Given the description of an element on the screen output the (x, y) to click on. 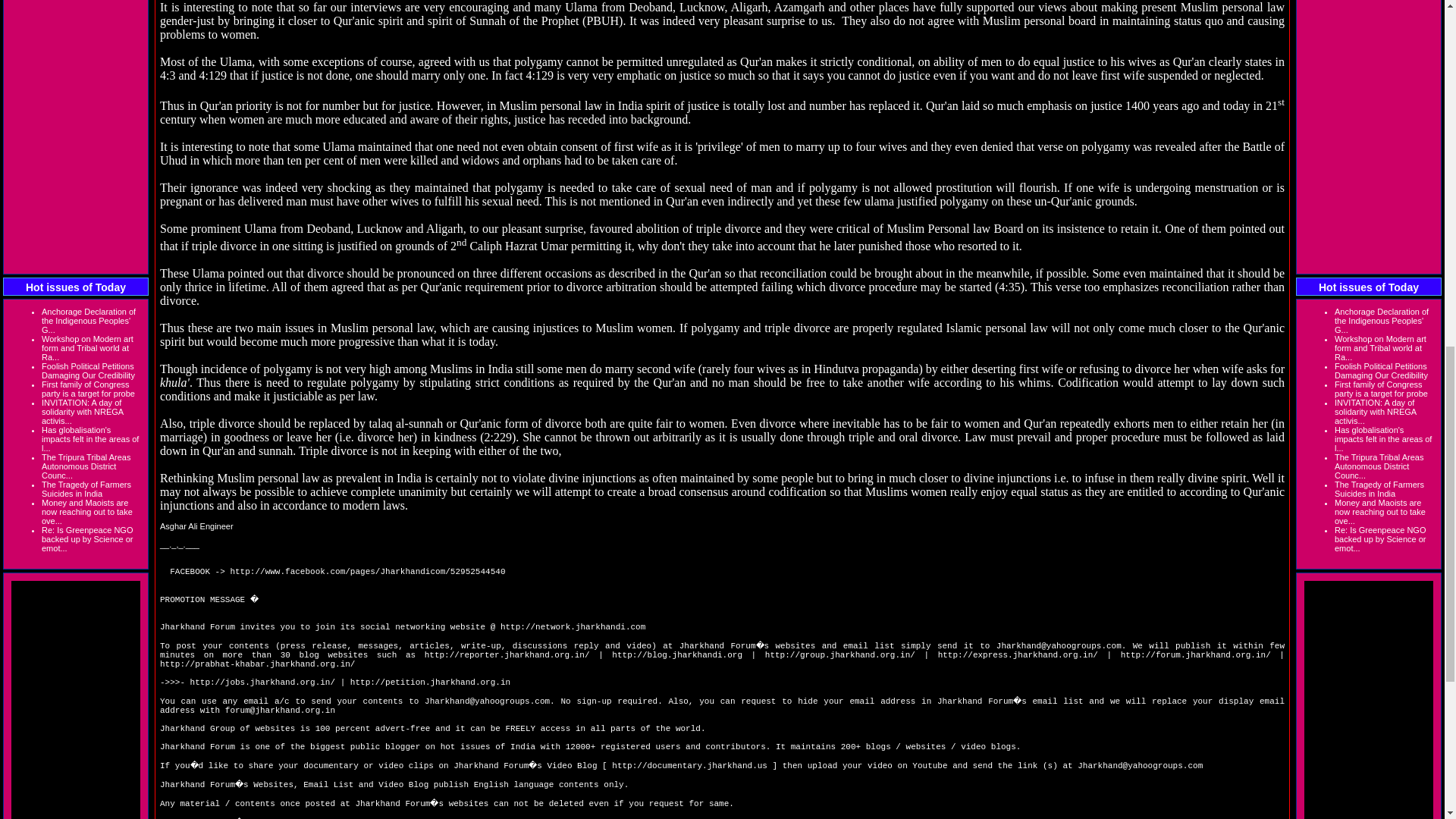
Anchorage Declaration of the Indigenous Peoples' G... (88, 320)
The Tragedy of Farmers Suicides in India (86, 488)
Money and Maoists are now reaching out to take ove... (87, 511)
INVITATION: A day of solidarity with NREGA activis... (82, 411)
Has globalisation's impacts felt in the areas of l... (90, 438)
First family of Congress party is a target for probe (88, 389)
Foolish Political Petitions Damaging Our Credibility (88, 370)
Re: Is Greenpeace NGO backed up by Science or emot... (87, 538)
Workshop on Modern art form and Tribal world at Ra... (87, 347)
The Tripura Tribal Areas Autonomous District Counc... (86, 465)
